Given the description of an element on the screen output the (x, y) to click on. 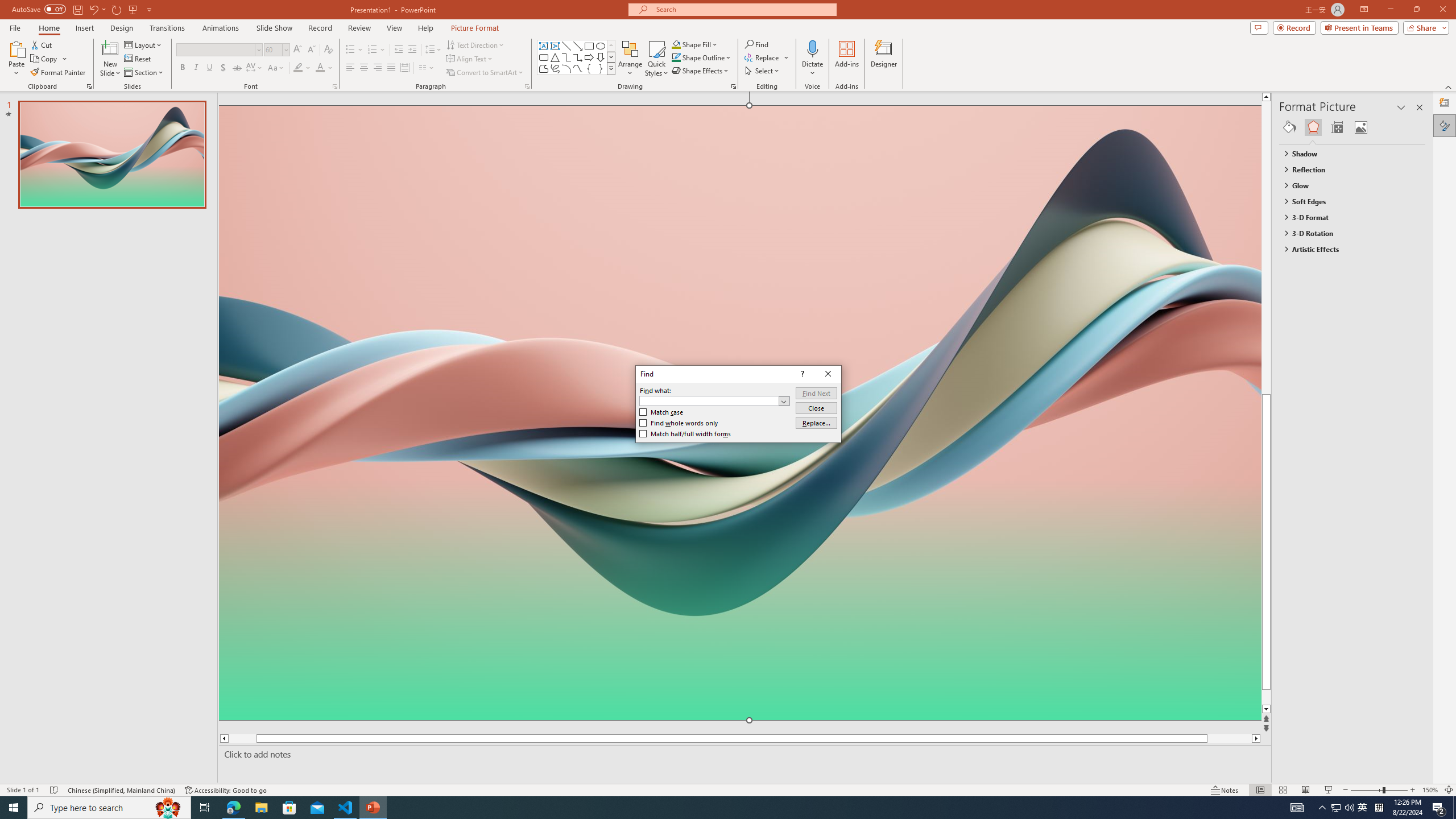
Find Next (815, 392)
Find whole words only (679, 422)
